Given the description of an element on the screen output the (x, y) to click on. 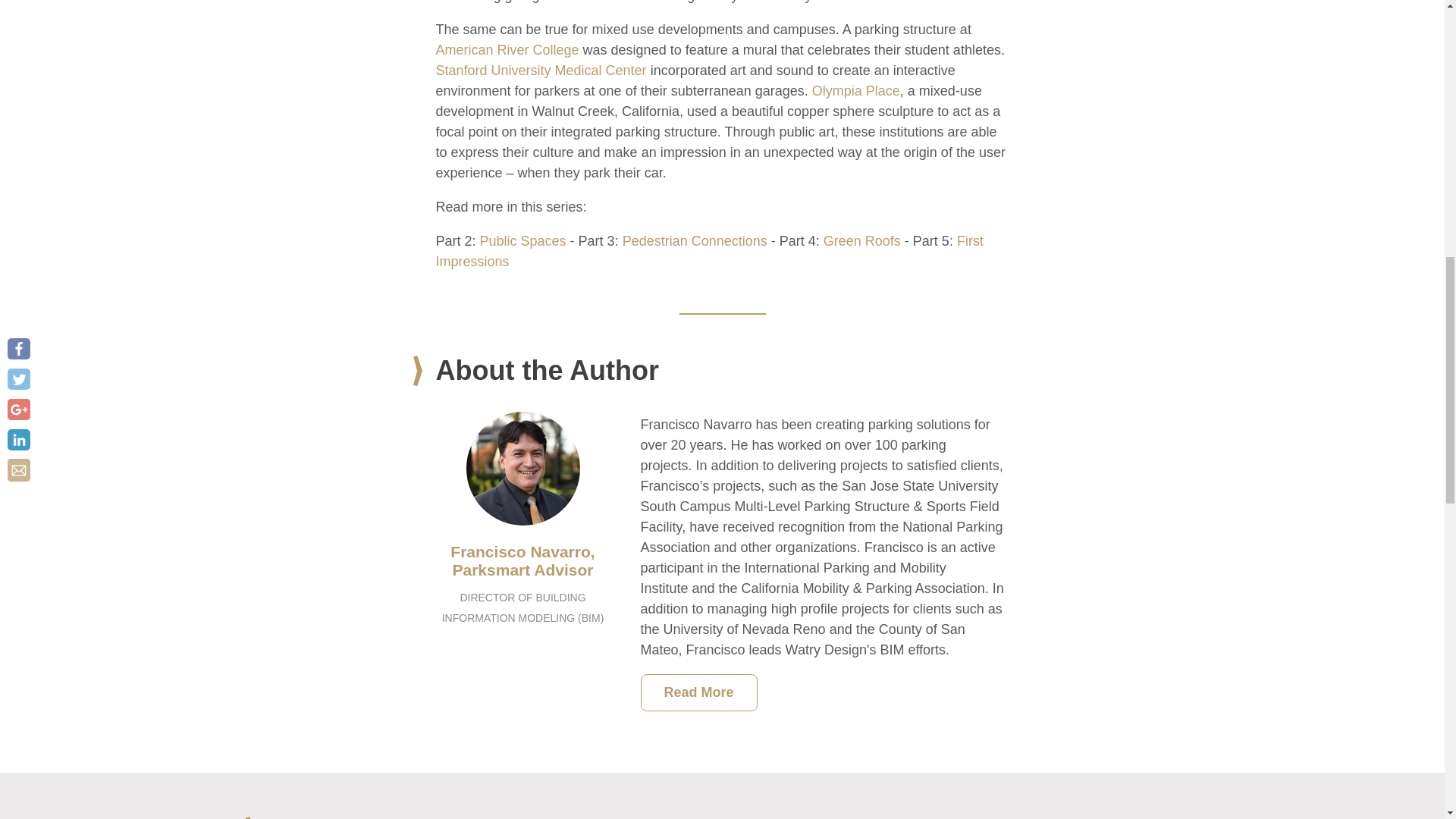
Public Spaces (523, 240)
Green Roofs (862, 240)
Pedestrian Connections (695, 240)
Olympia Place (855, 90)
First Impressions (708, 251)
Read More (698, 692)
Stanford University Medical Center (540, 70)
American River College (506, 49)
